Given the description of an element on the screen output the (x, y) to click on. 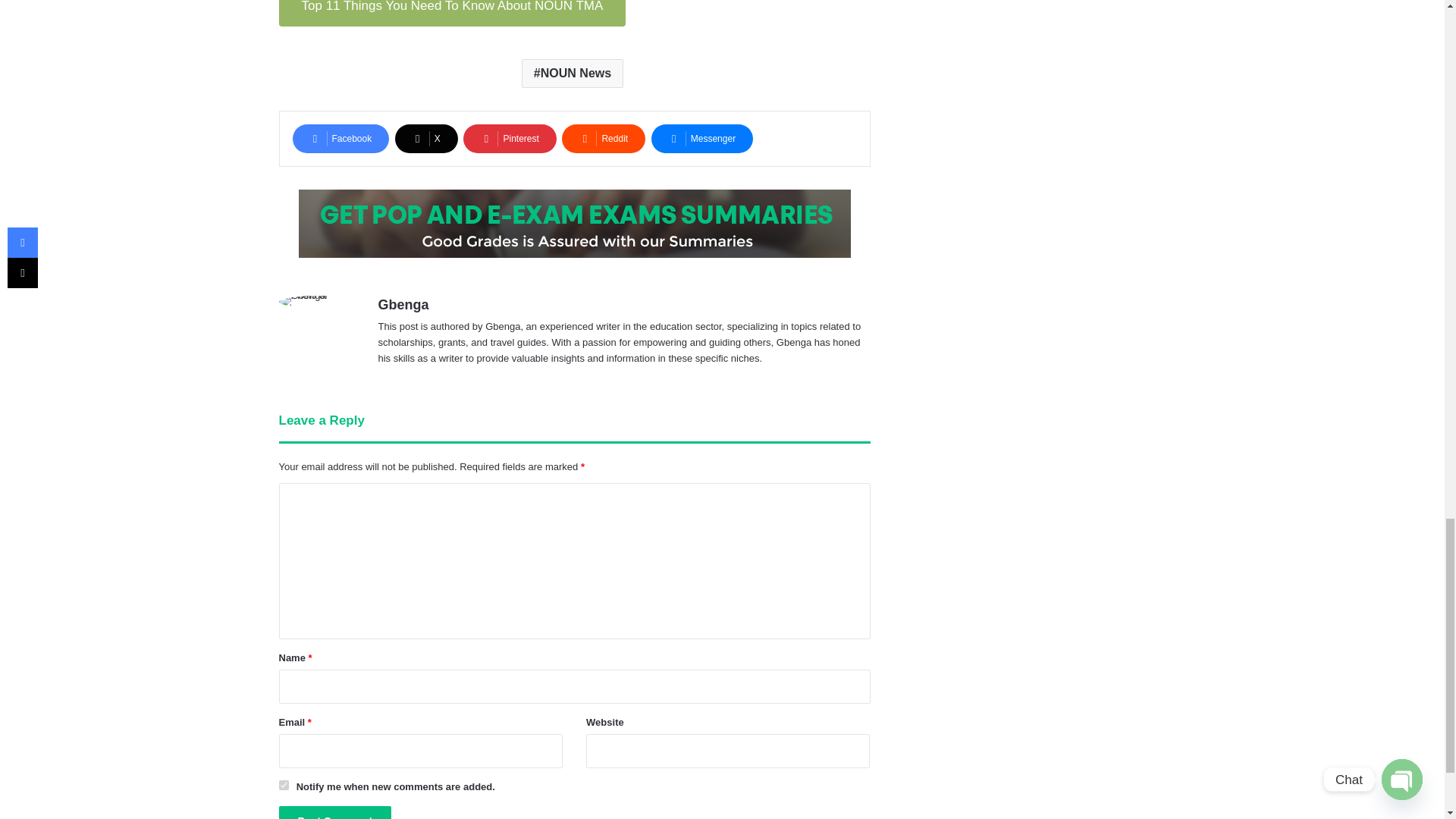
Reddit (603, 138)
Post Comment (335, 812)
Messenger (701, 138)
X (426, 138)
1 (283, 785)
Facebook (341, 138)
Messenger (701, 138)
Pinterest (509, 138)
Pinterest (509, 138)
Top 11 Things You Need To Know About NOUN TMA (452, 13)
NOUN News (572, 72)
Reddit (603, 138)
Facebook (341, 138)
X (426, 138)
